Given the description of an element on the screen output the (x, y) to click on. 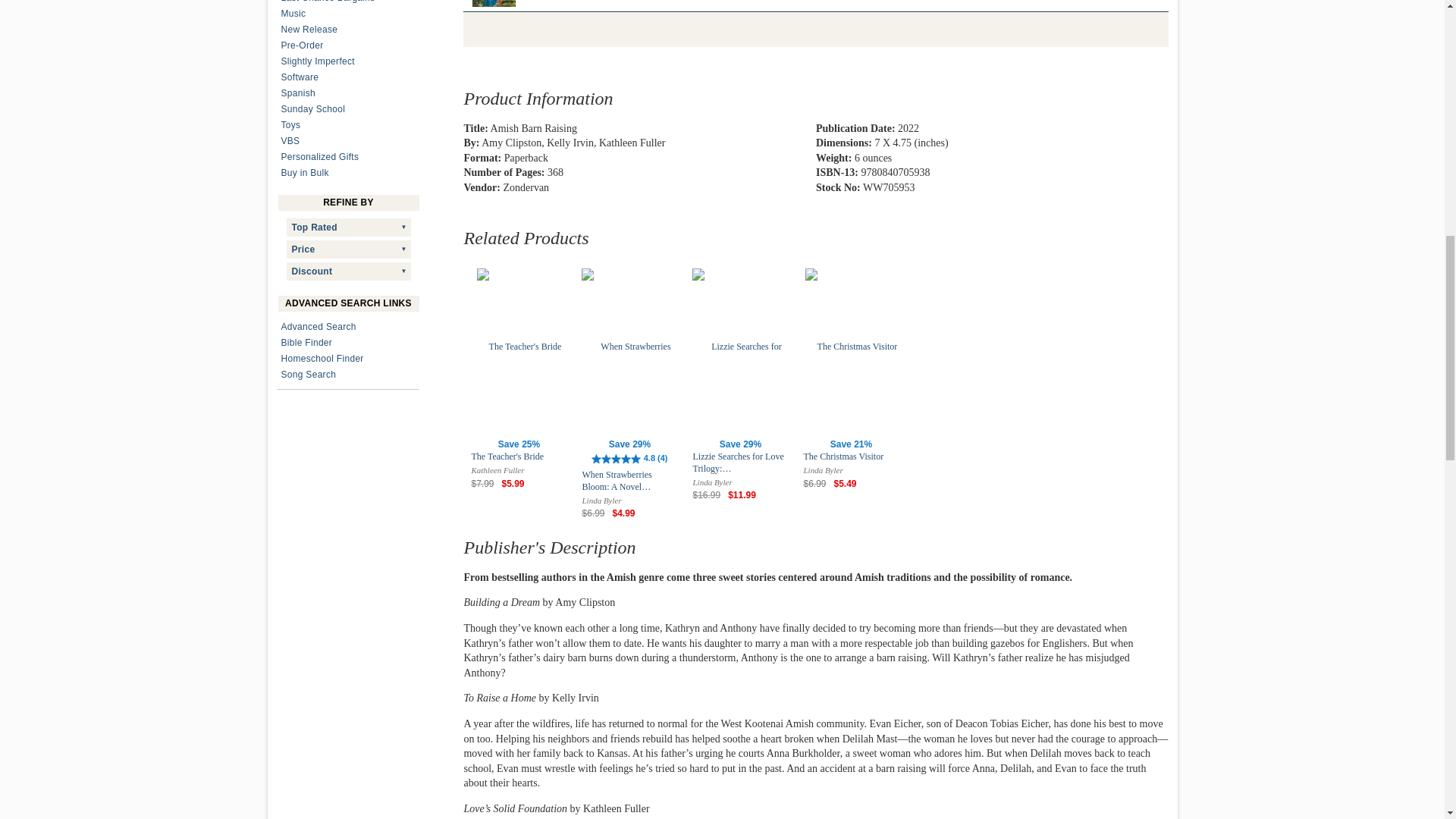
Mass Market Book (493, 3)
